Given the description of an element on the screen output the (x, y) to click on. 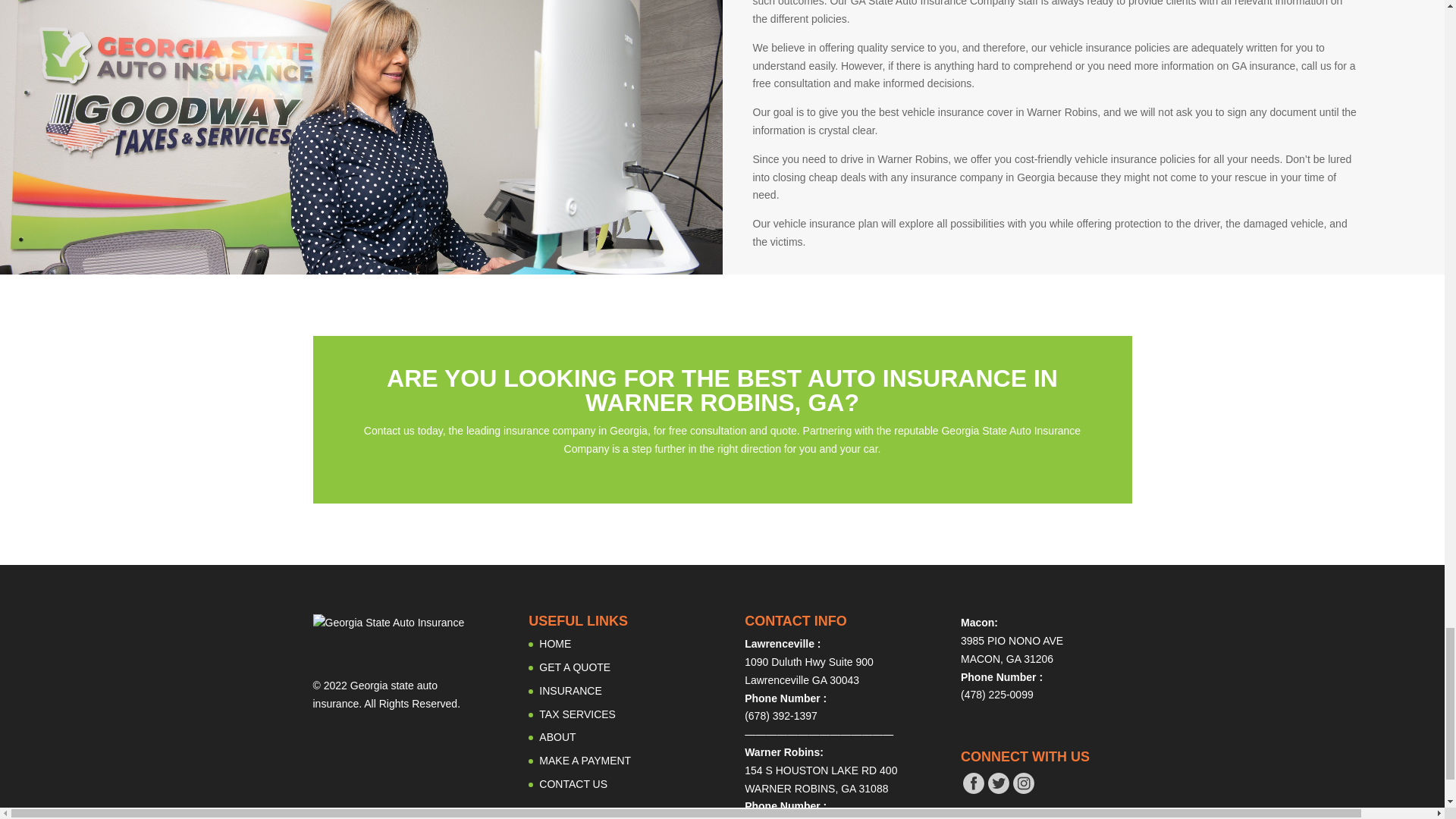
Visit Us On Instagram (1022, 791)
Visit Us On Twitter (997, 791)
Visit Us On Facebook (972, 791)
Georgia State Auto Insurance (388, 623)
